Given the description of an element on the screen output the (x, y) to click on. 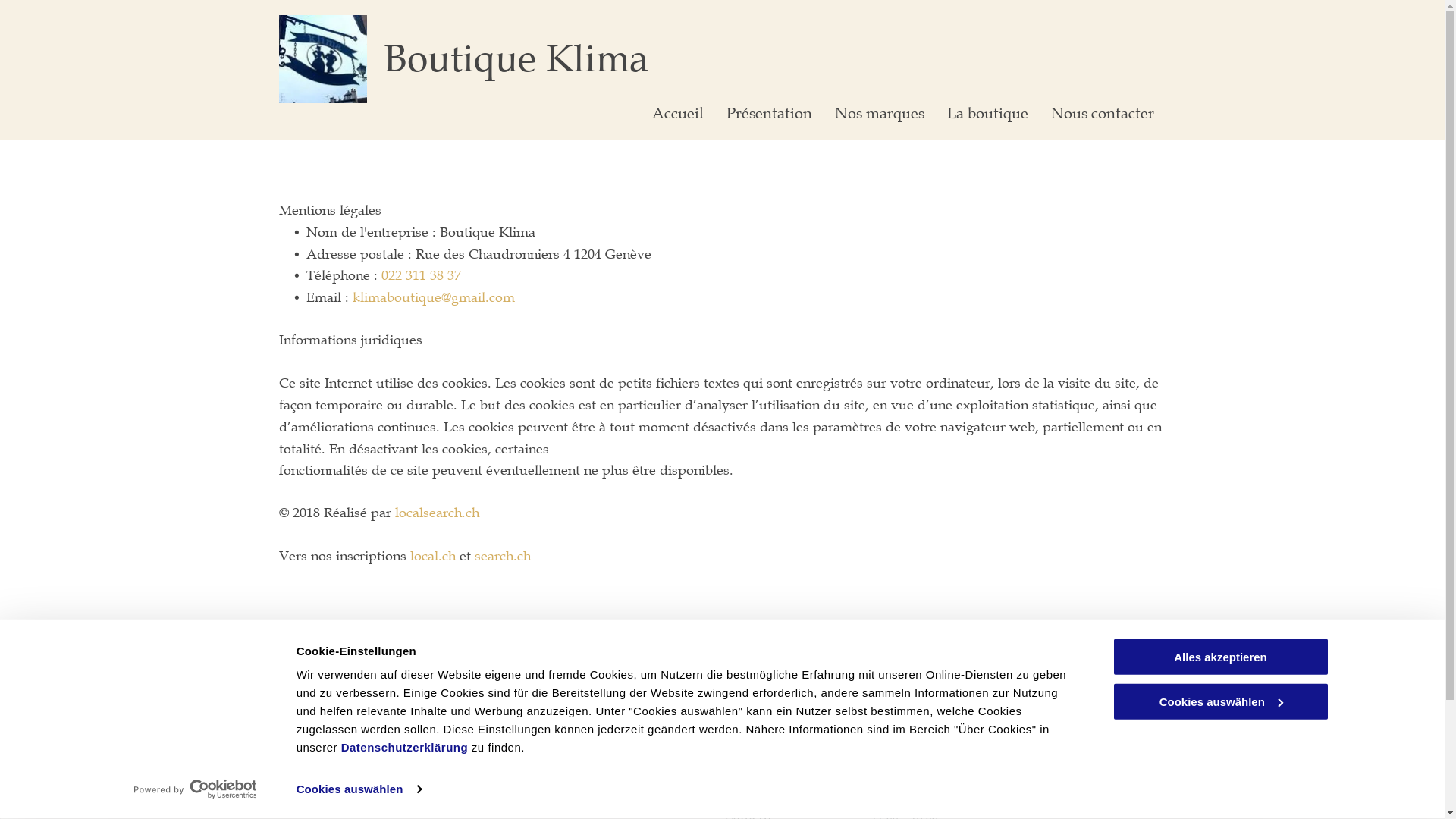
La boutique Element type: text (987, 113)
Boutique Klima Element type: text (515, 58)
klimaboutique@gmail.com Element type: text (432, 296)
Nos marques Element type: text (879, 113)
localsearch.ch Element type: text (436, 512)
022 311 38 37 Element type: text (555, 709)
Nous contacter Element type: text (1102, 113)
Alles akzeptieren Element type: text (1219, 656)
local.ch Element type: text (432, 555)
search.ch Element type: text (502, 555)
022 311 38 37 Element type: text (420, 274)
Accueil Element type: text (677, 113)
klimaboutique@gmail.com Element type: text (598, 750)
